Given the description of an element on the screen output the (x, y) to click on. 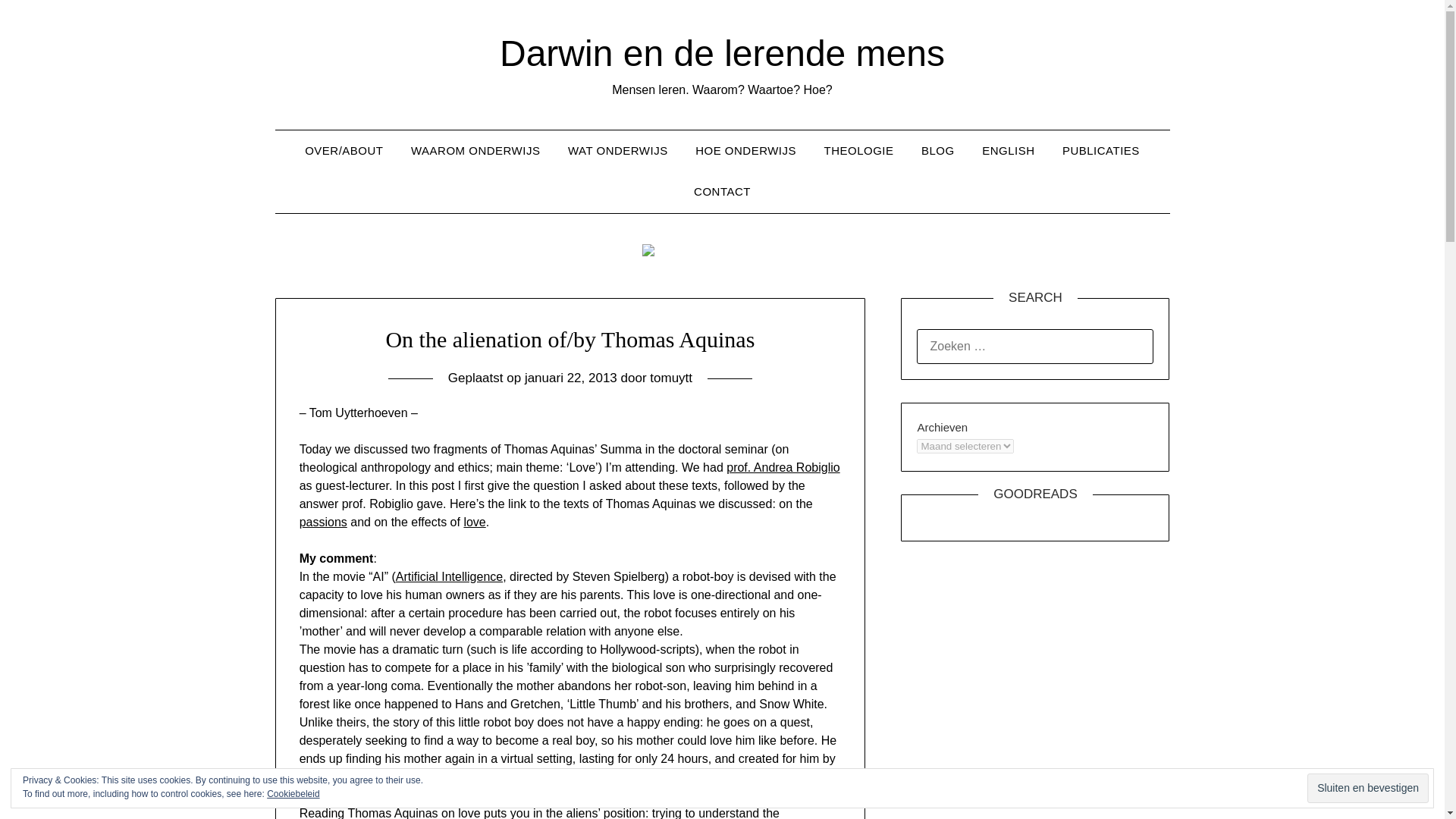
CONTACT (721, 191)
Sluiten en bevestigen (1367, 788)
Artificial Intelligence (449, 576)
PUBLICATIES (1100, 150)
Darwin en de lerende mens (721, 53)
THEOLOGIE (857, 150)
ENGLISH (1007, 150)
Sluiten en bevestigen (1367, 788)
prof. Andrea Robiglio (783, 467)
Cookiebeleid (292, 793)
WAT ONDERWIJS (617, 150)
januari 22, 2013 (570, 377)
WAAROM ONDERWIJS (475, 150)
passions (323, 521)
Zoeken (39, 22)
